Given the description of an element on the screen output the (x, y) to click on. 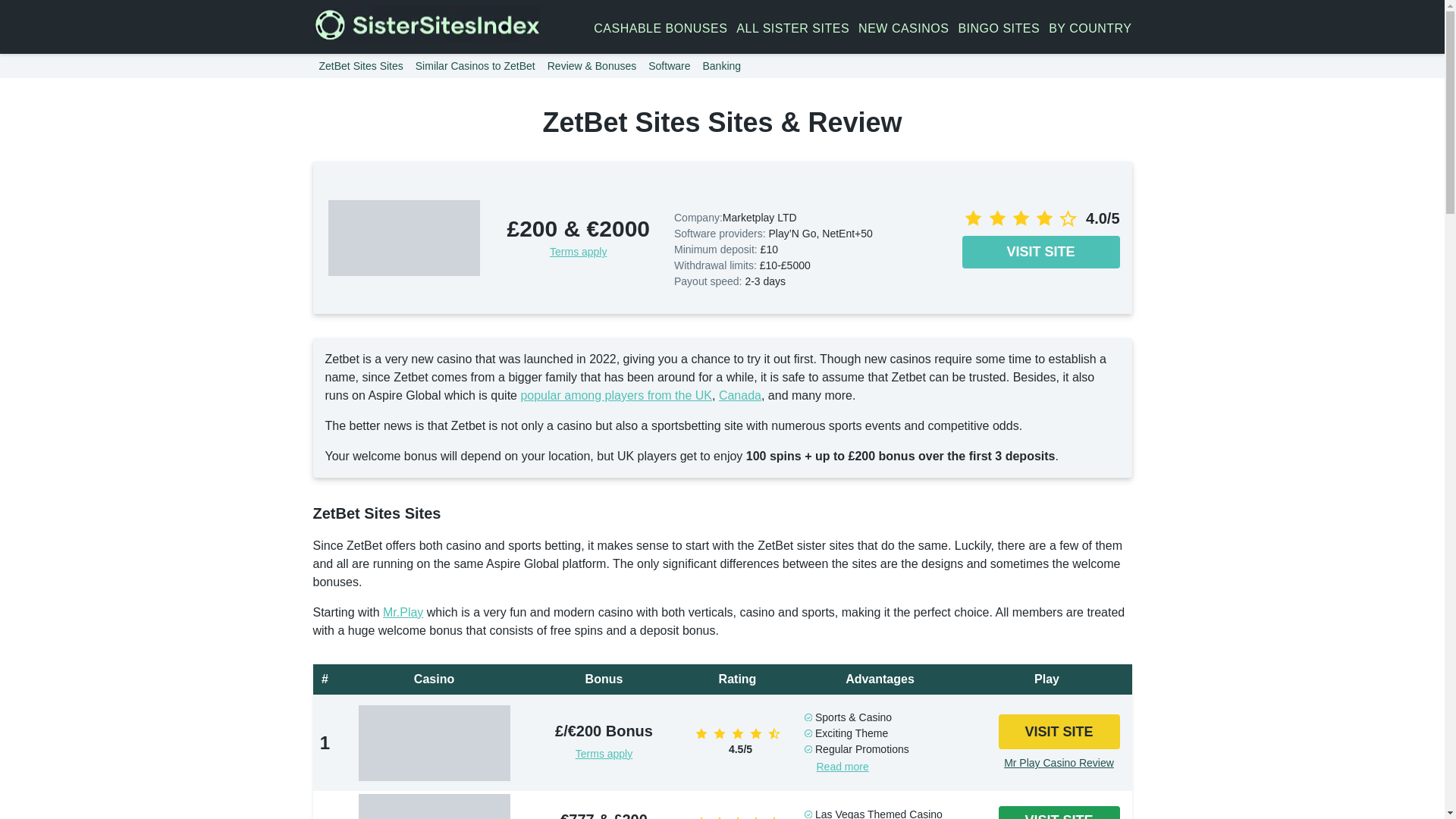
Mr Play Casino Review (1058, 763)
VISIT SITE (1058, 812)
VISIT SITE (1058, 732)
VISIT SITE (1039, 251)
BINGO SITES (998, 28)
Terms apply (578, 251)
Similar Casinos to ZetBet (475, 65)
ZetBet Sites Sites (361, 65)
Read more (841, 766)
popular among players from the UK (615, 395)
Banking (720, 65)
Canada (740, 395)
Mr.Play (402, 612)
Terms apply (603, 753)
ALL SISTER SITES (792, 28)
